Given the description of an element on the screen output the (x, y) to click on. 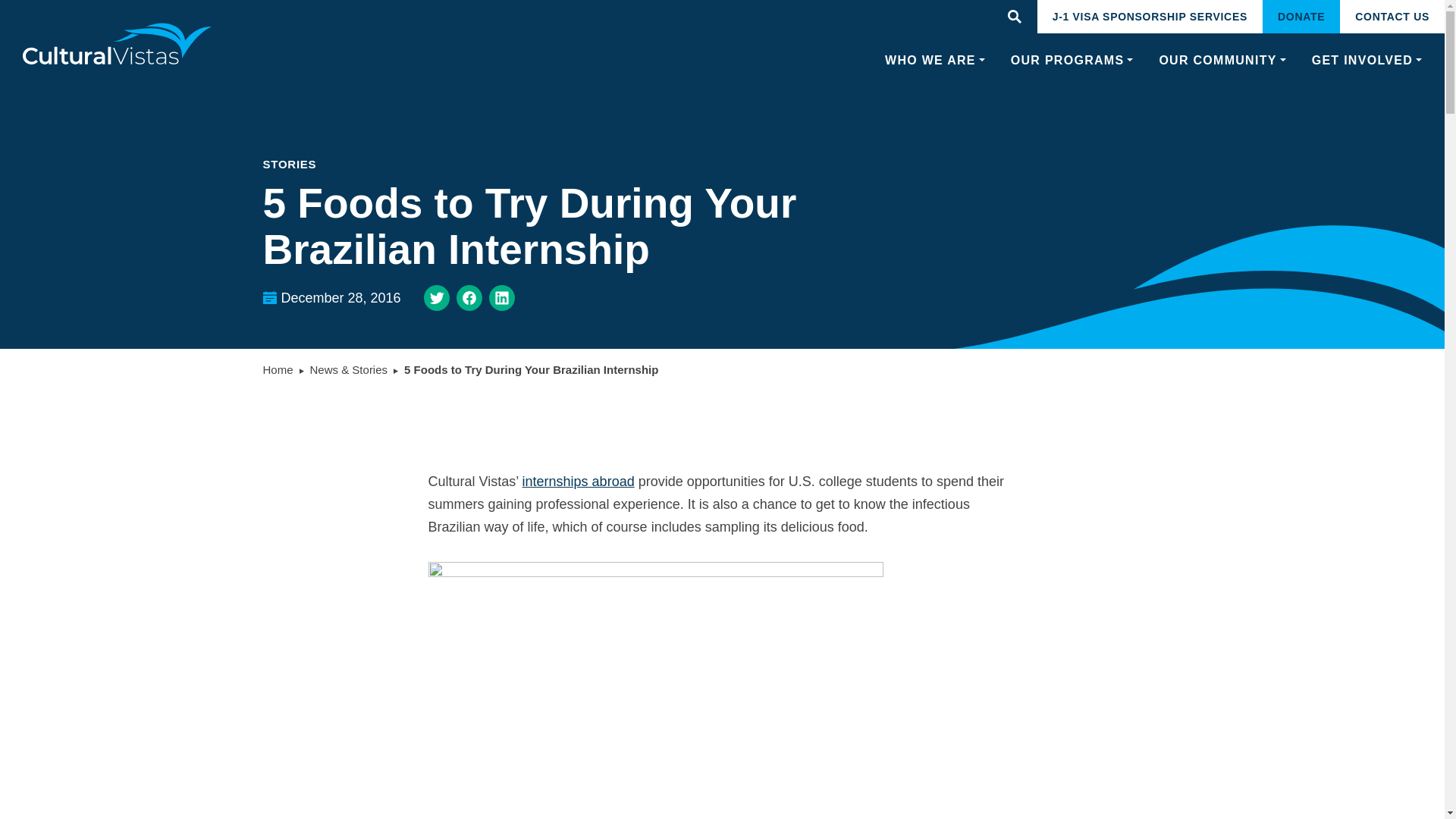
homepage (117, 43)
DONATE (1300, 16)
OUR COMMUNITY (1221, 60)
Site Search (1013, 16)
GET INVOLVED (1366, 60)
J-1 VISA SPONSORSHIP SERVICES (1149, 16)
WHO WE ARE (935, 60)
internships abroad (578, 481)
Home (277, 369)
OUR PROGRAMS (1072, 60)
